Given the description of an element on the screen output the (x, y) to click on. 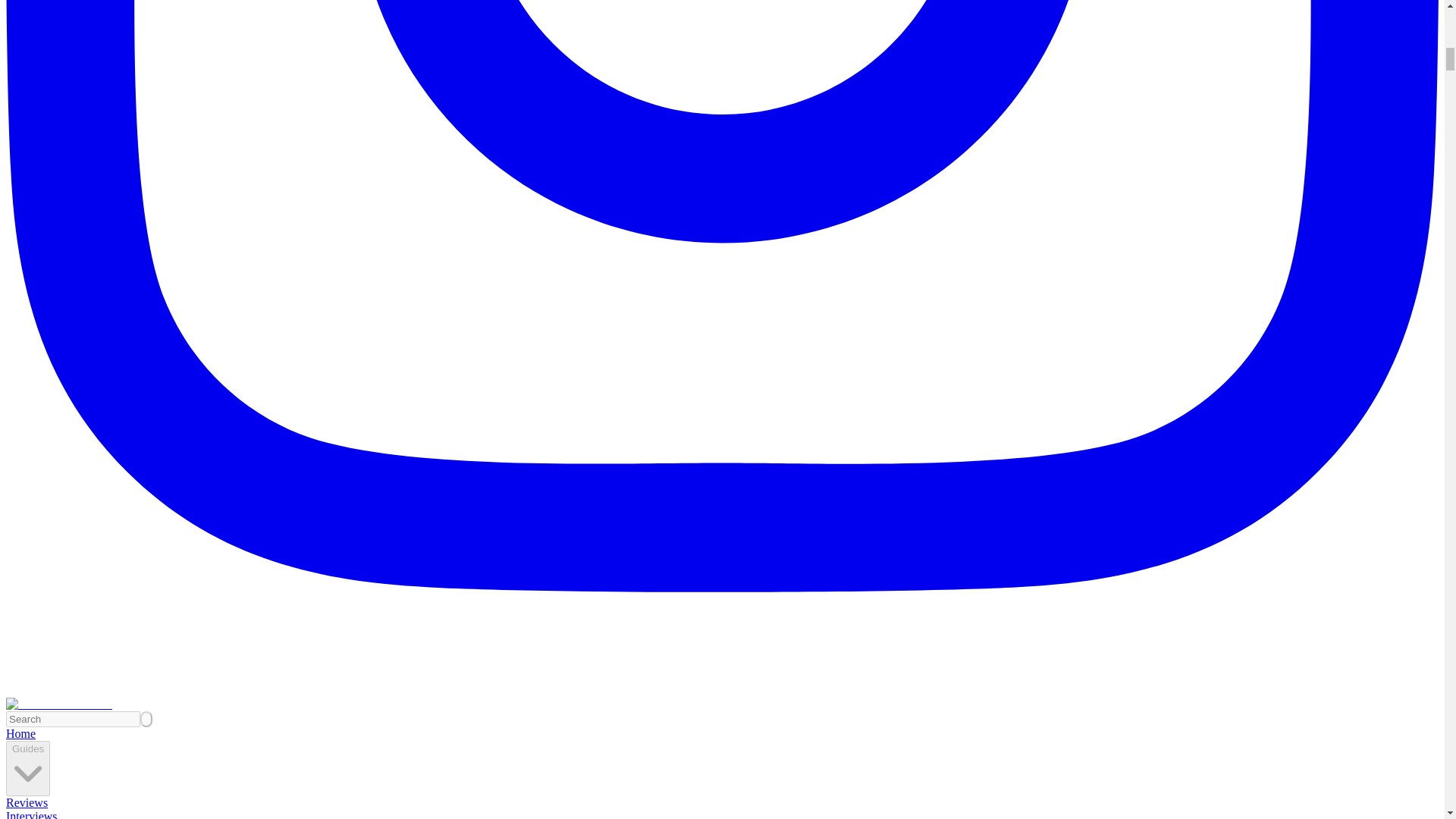
Home (19, 733)
Reviews (26, 802)
Interviews (31, 814)
